Given the description of an element on the screen output the (x, y) to click on. 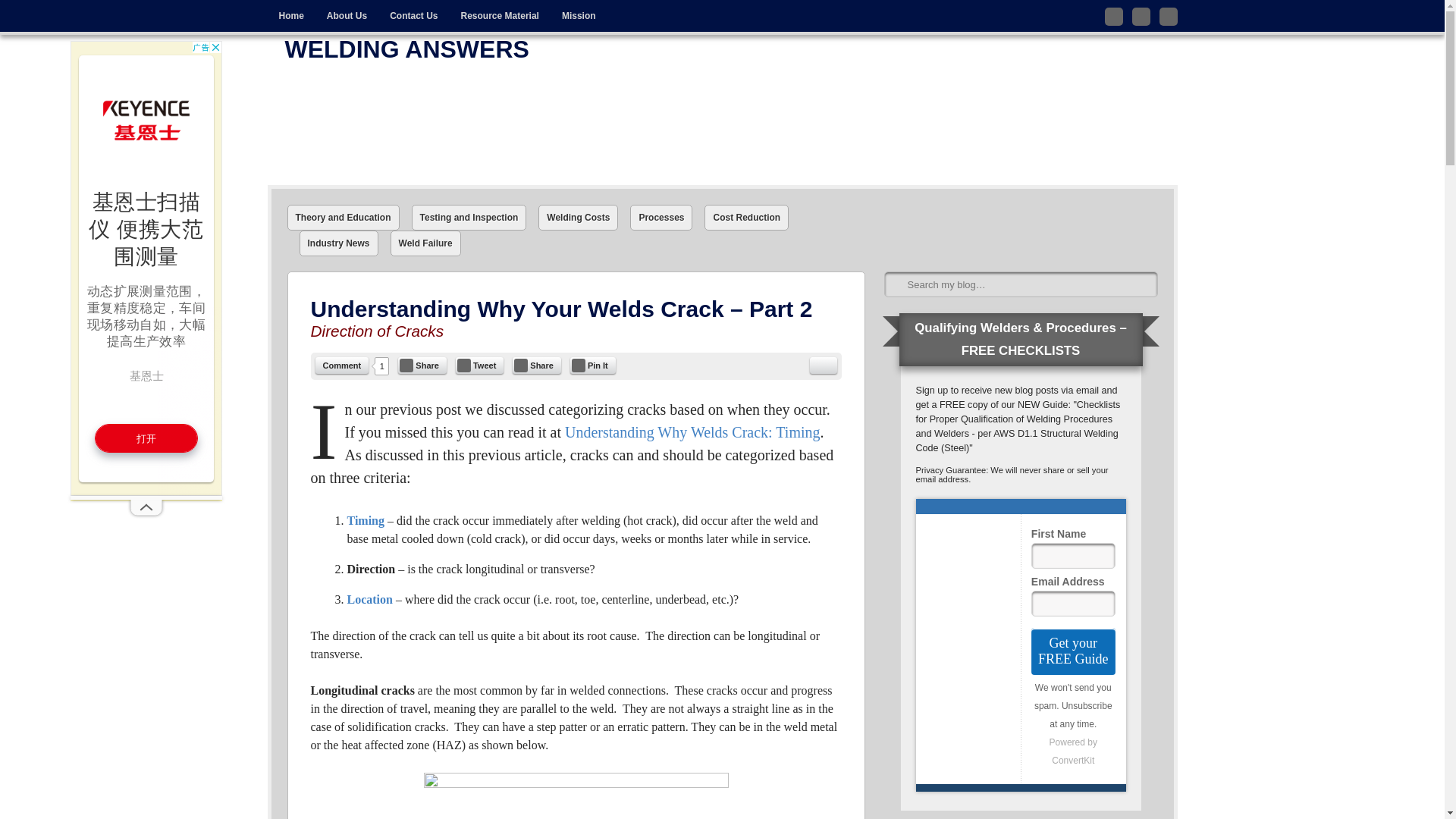
WELDING ANSWERS (722, 123)
Comment on this Post (342, 365)
Cost Reduction (746, 217)
Pin It (592, 365)
Contact Us (413, 15)
Like me on Facebook (1140, 16)
Subscribe to my RSS Feed (1167, 16)
Timing (367, 520)
Home (290, 15)
Skip to content (299, 10)
Share on LinkedIn (536, 365)
Share on Facebook (421, 365)
Comment (342, 365)
Mission (578, 15)
Share (421, 365)
